Given the description of an element on the screen output the (x, y) to click on. 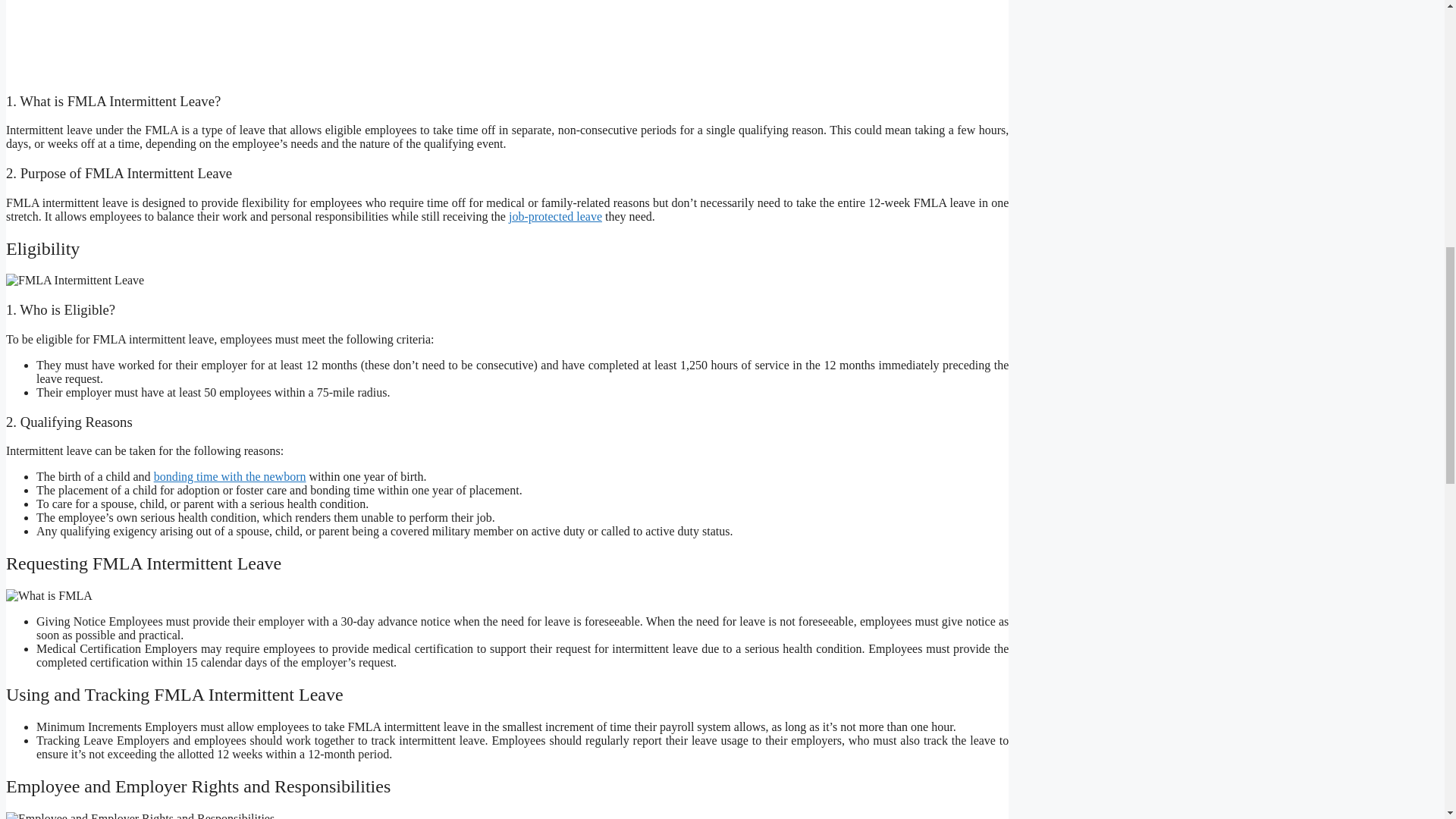
bonding time with the newborn (229, 476)
job-protected leave (555, 215)
